Given the description of an element on the screen output the (x, y) to click on. 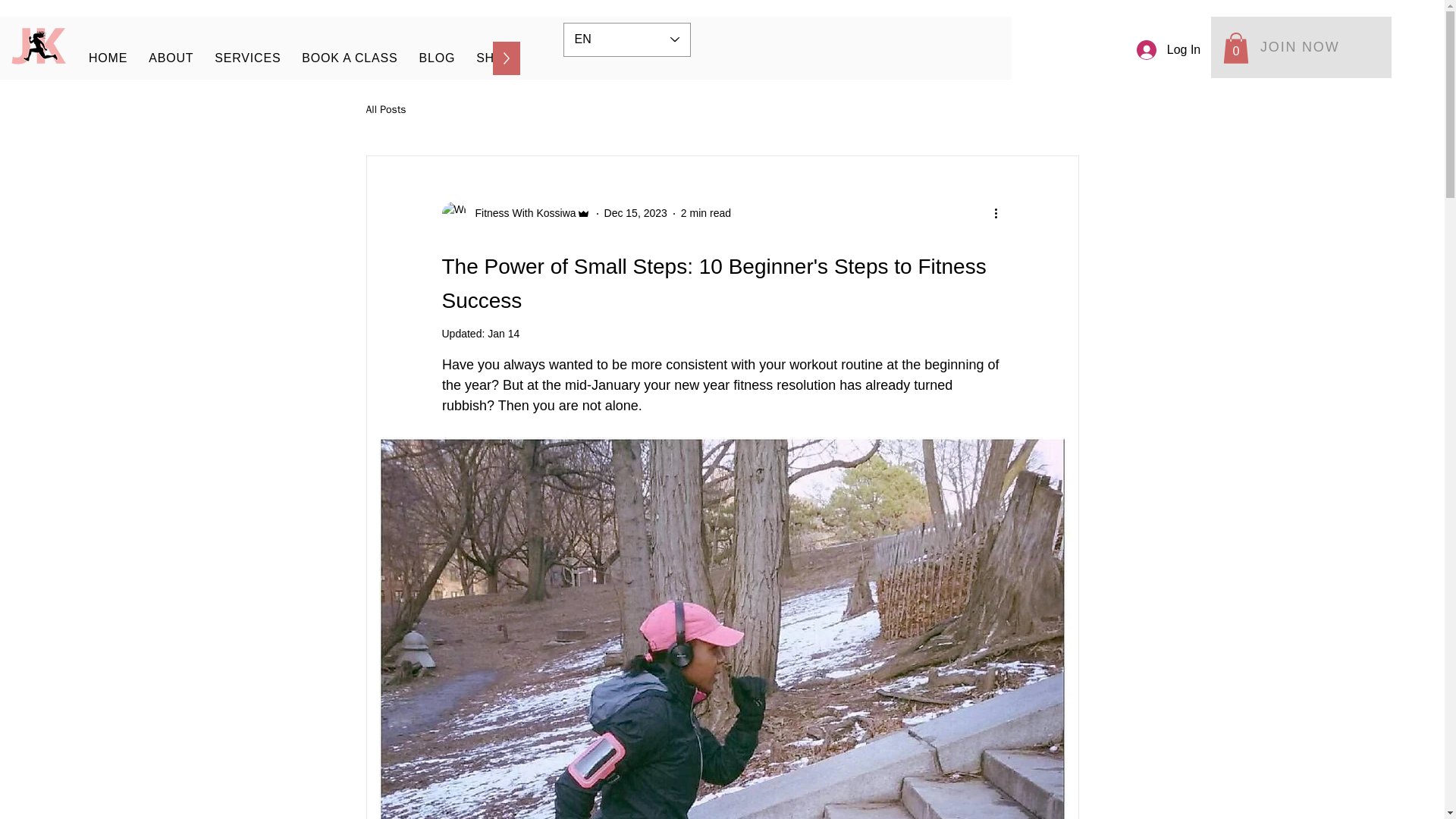
2 min read (705, 213)
Log In (300, 58)
HOME (1168, 50)
SHOP (108, 58)
Dec 15, 2023 (494, 58)
Fitness With Kossiwa (635, 213)
BLOG (515, 213)
ABOUT (436, 58)
Events (170, 58)
JOIN NOW (555, 58)
Jan 14 (1301, 46)
Fitness With Kossiwa (503, 333)
BOOK A CLASS (520, 213)
SERVICES (349, 58)
